Given the description of an element on the screen output the (x, y) to click on. 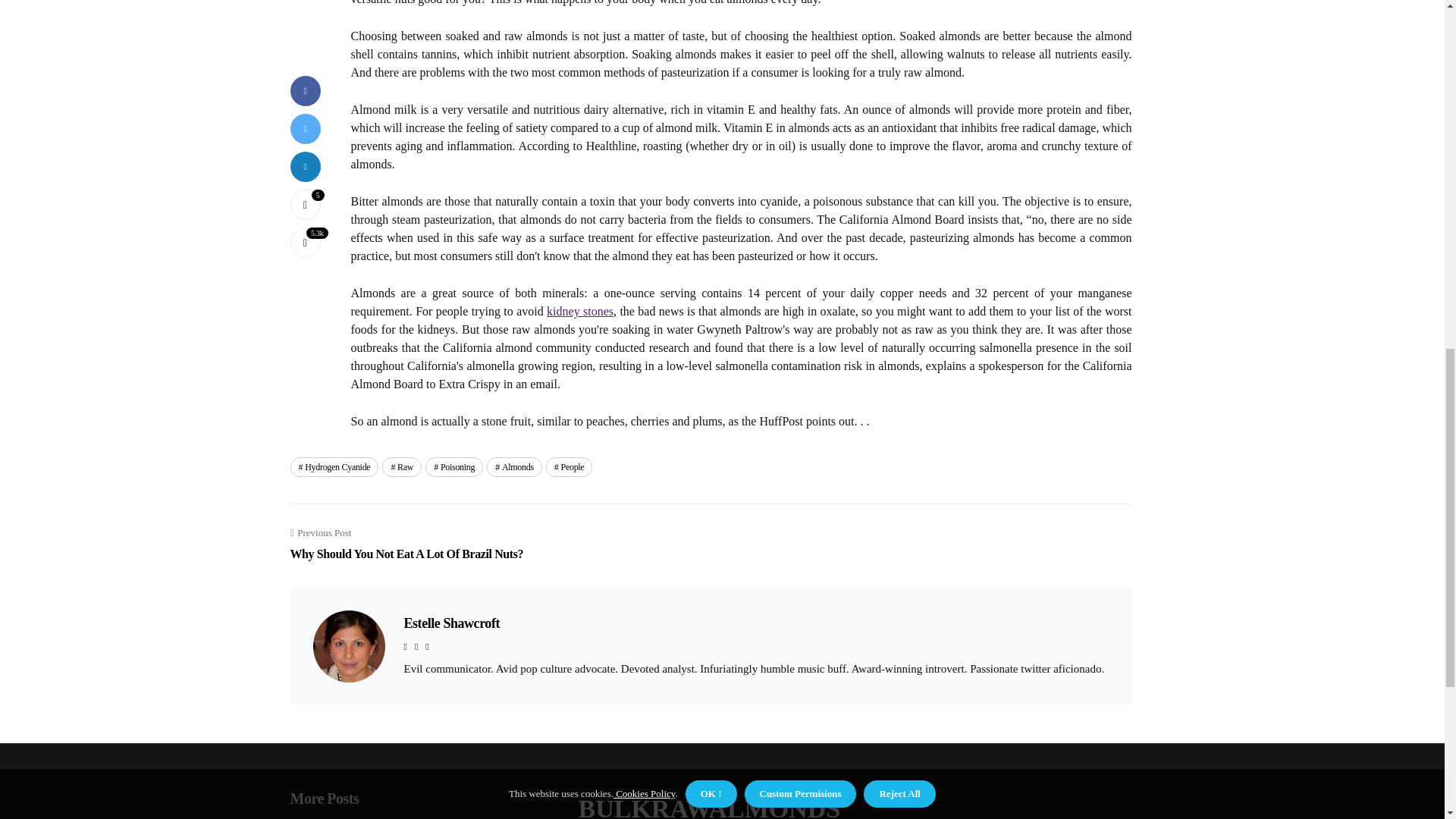
Estelle Shawcroft (451, 622)
kidney stones (579, 310)
Raw (401, 466)
People (405, 544)
Poisoning (569, 466)
Hydrogen Cyanide (454, 466)
Almonds (333, 466)
